Given the description of an element on the screen output the (x, y) to click on. 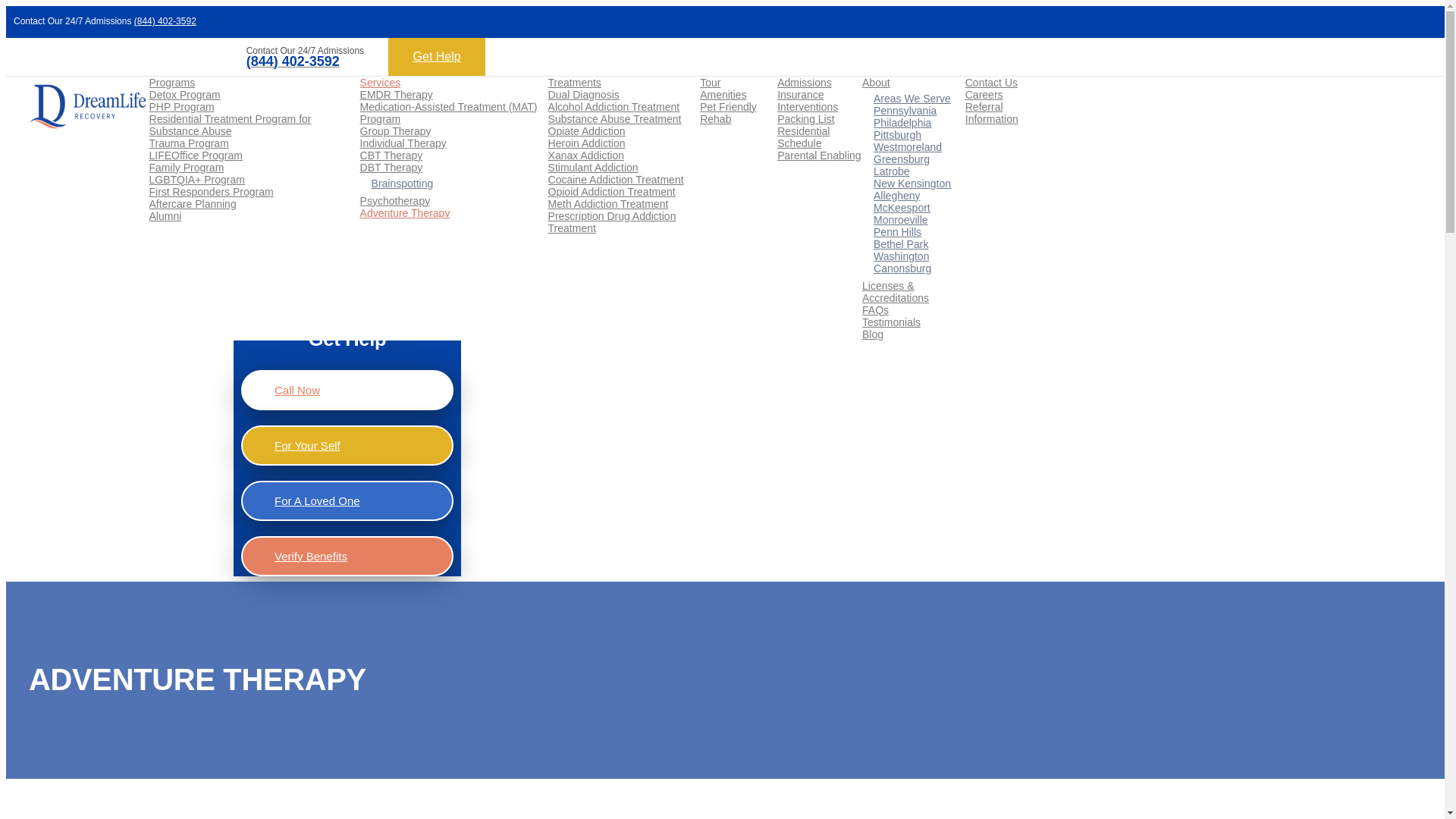
Brainspotting (402, 183)
Opiate Addiction (587, 131)
Stimulant Addiction (593, 167)
DBT Therapy (391, 167)
Residential Treatment Program for Substance Abuse (230, 125)
DreamLife Recovery (282, 277)
Psychotherapy (394, 200)
Heroin Addiction (587, 143)
Adventure Therapy (404, 213)
Get Help (436, 56)
